Given the description of an element on the screen output the (x, y) to click on. 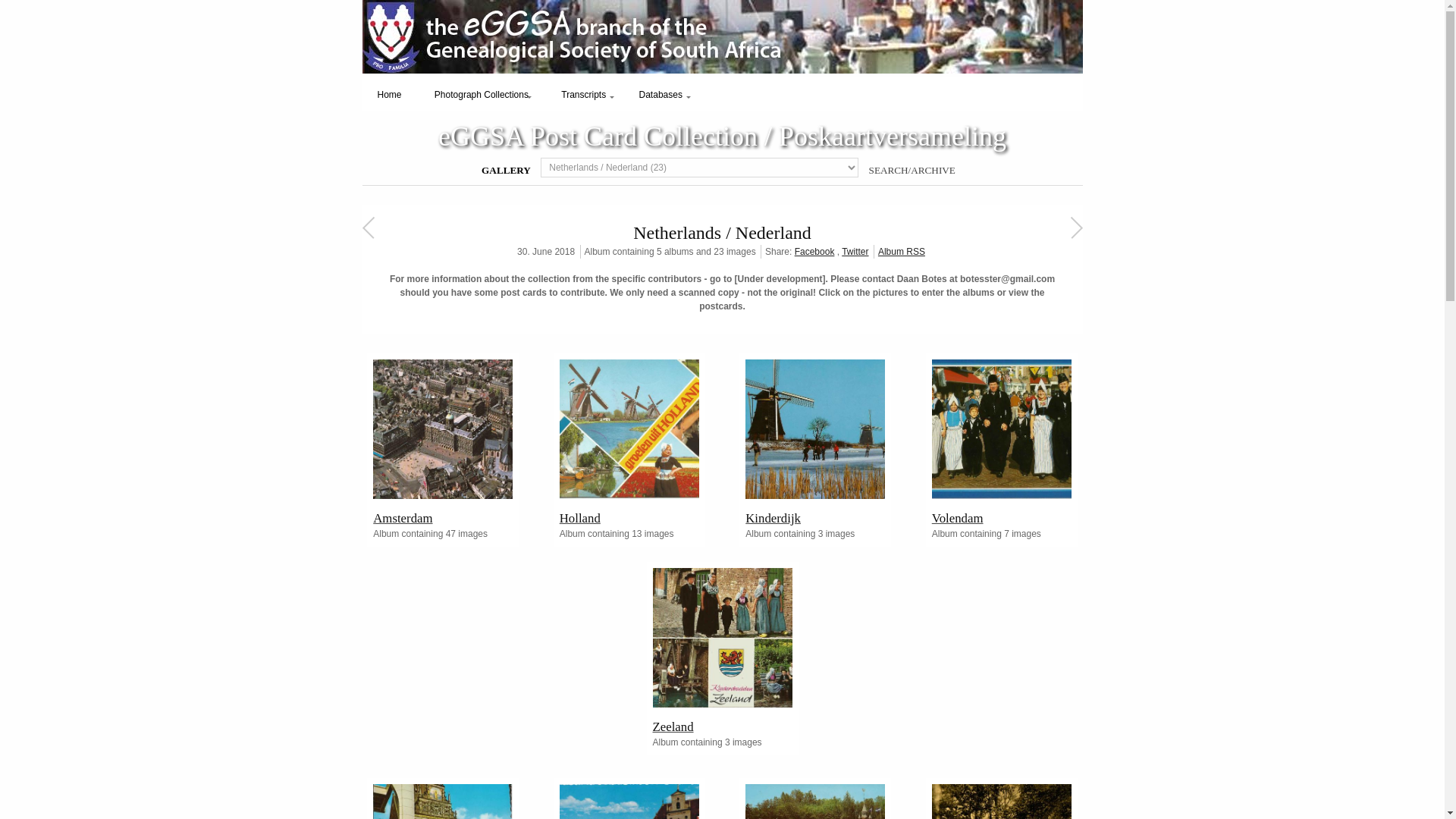
Transcripts (583, 94)
Holland (628, 514)
Album RSS (900, 251)
Photograph Collections (481, 94)
Databases (660, 94)
Volendam (1001, 428)
Album RSS (900, 251)
Zeeland (722, 723)
Volendam (1001, 514)
Amsterdam (442, 428)
